Given the description of an element on the screen output the (x, y) to click on. 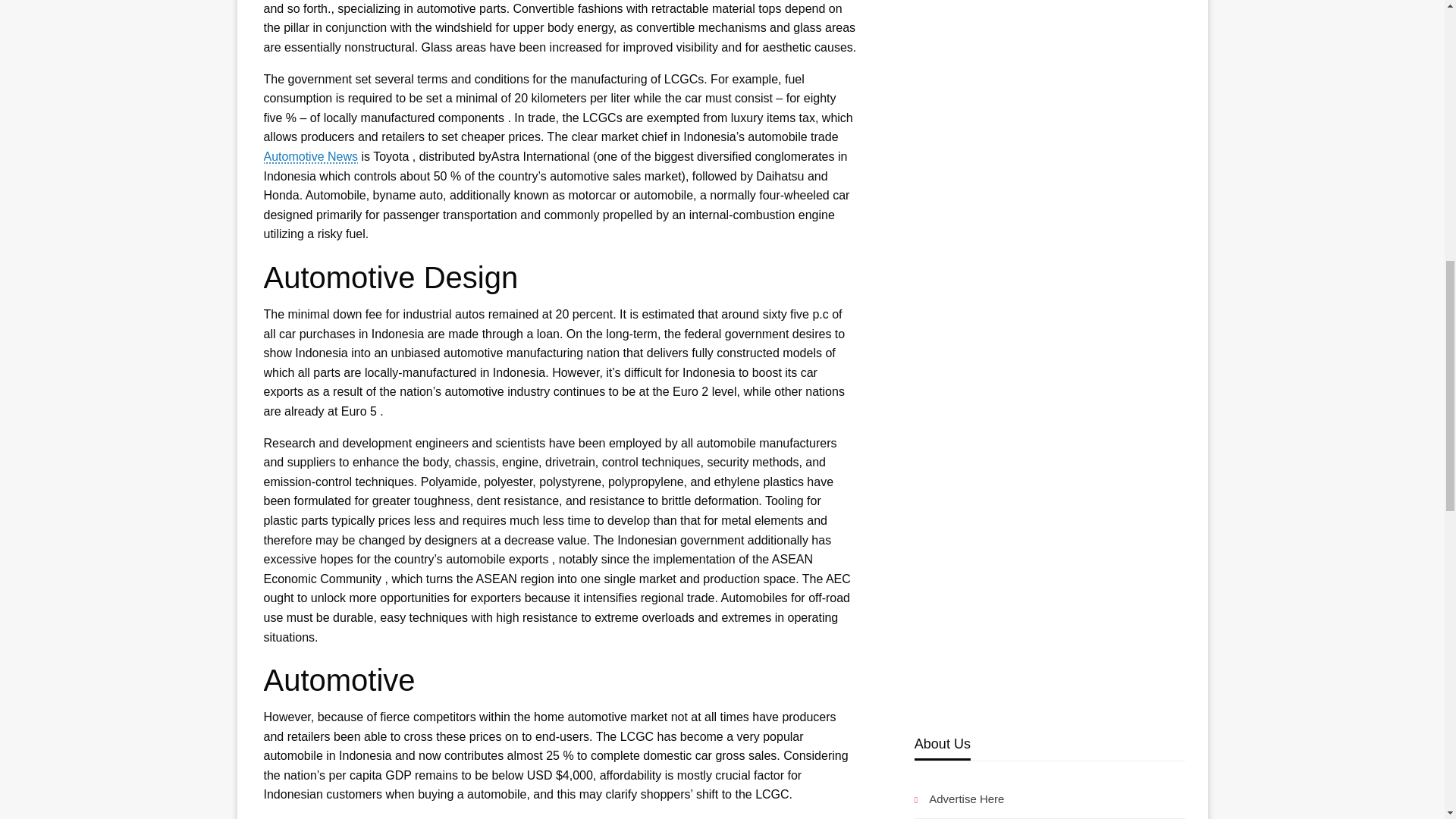
Automotive News (310, 155)
